Given the description of an element on the screen output the (x, y) to click on. 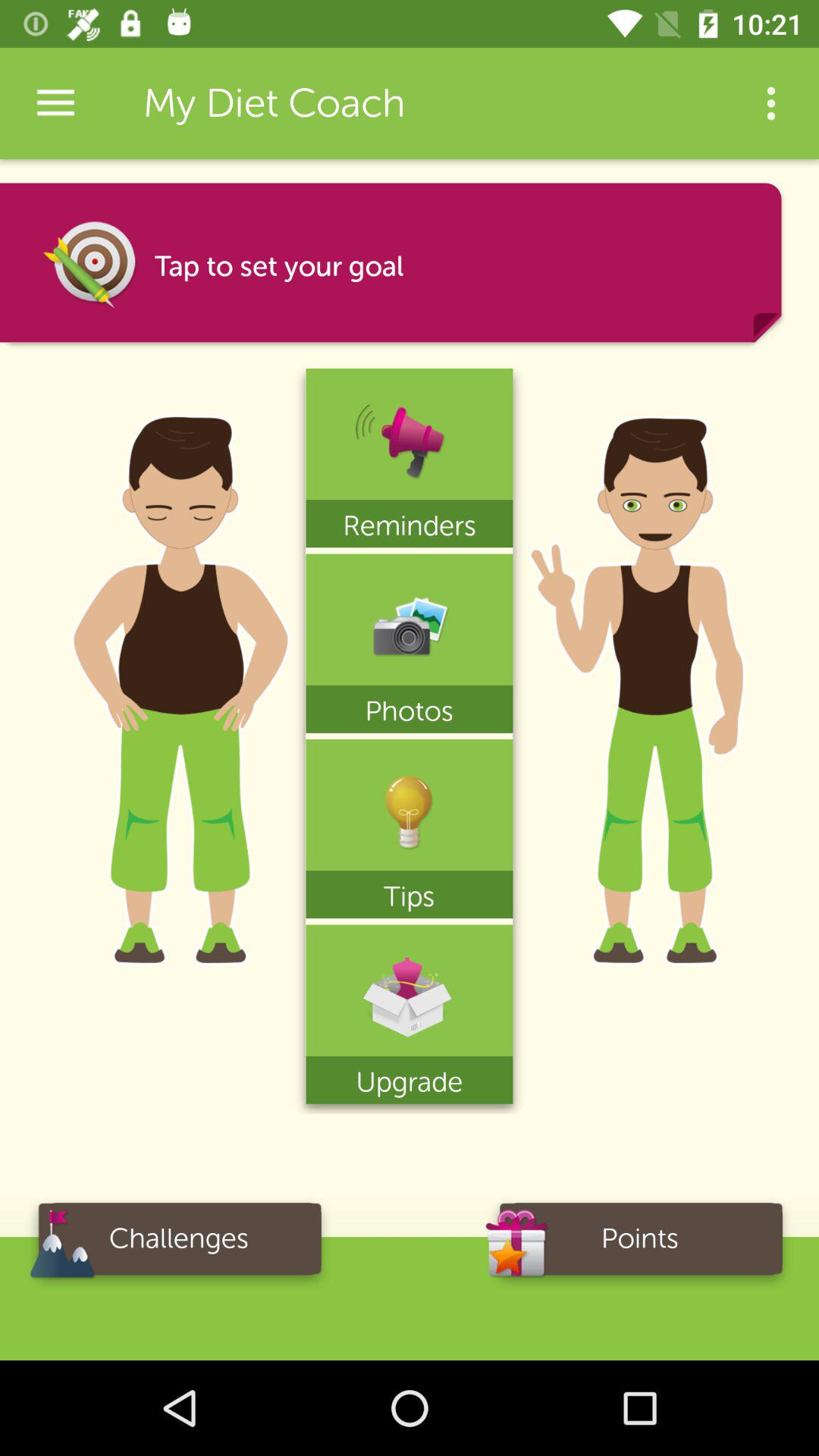
turn off the icon next to my diet coach app (771, 103)
